Given the description of an element on the screen output the (x, y) to click on. 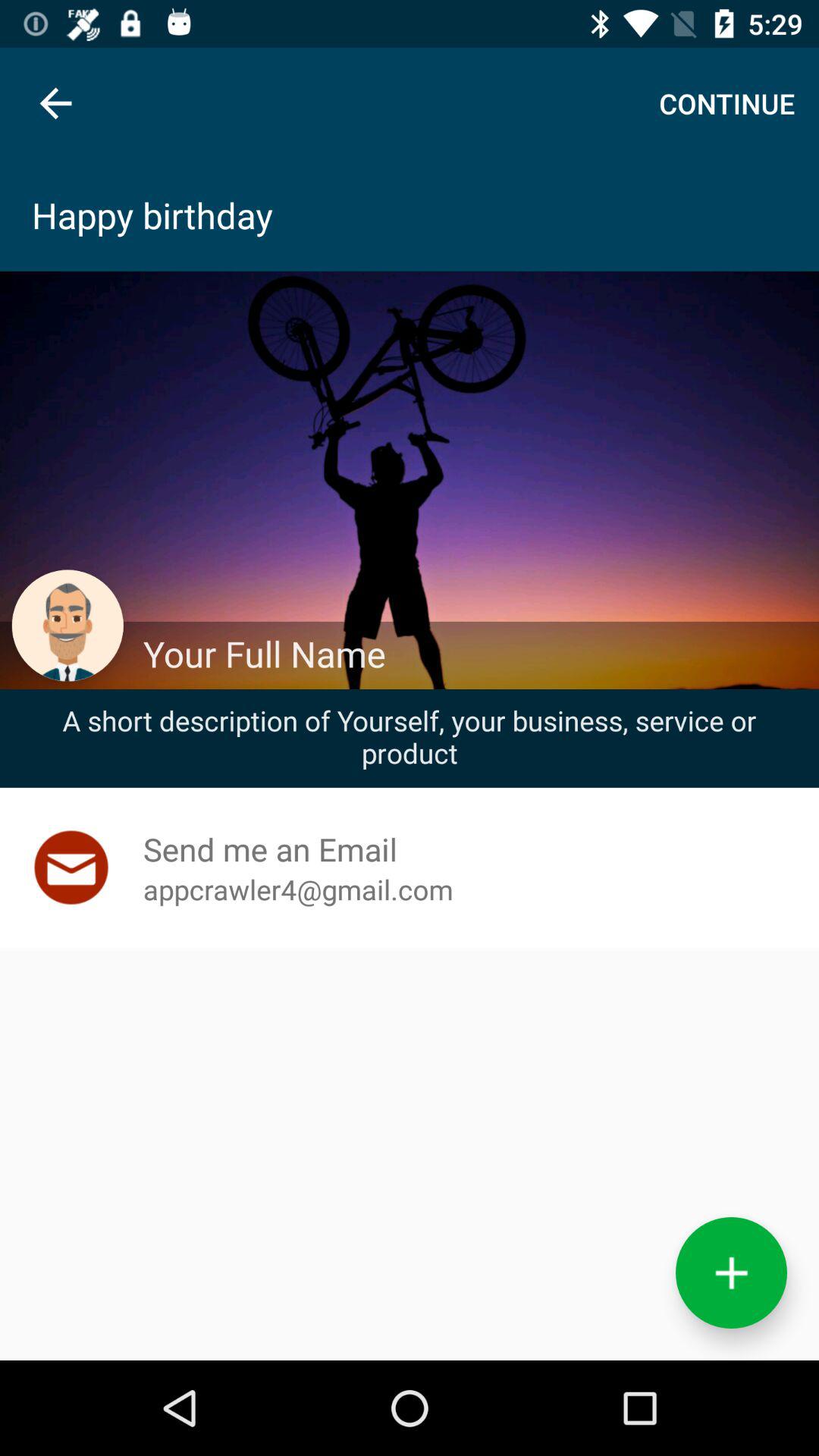
select the continue at the top right corner (727, 103)
